Given the description of an element on the screen output the (x, y) to click on. 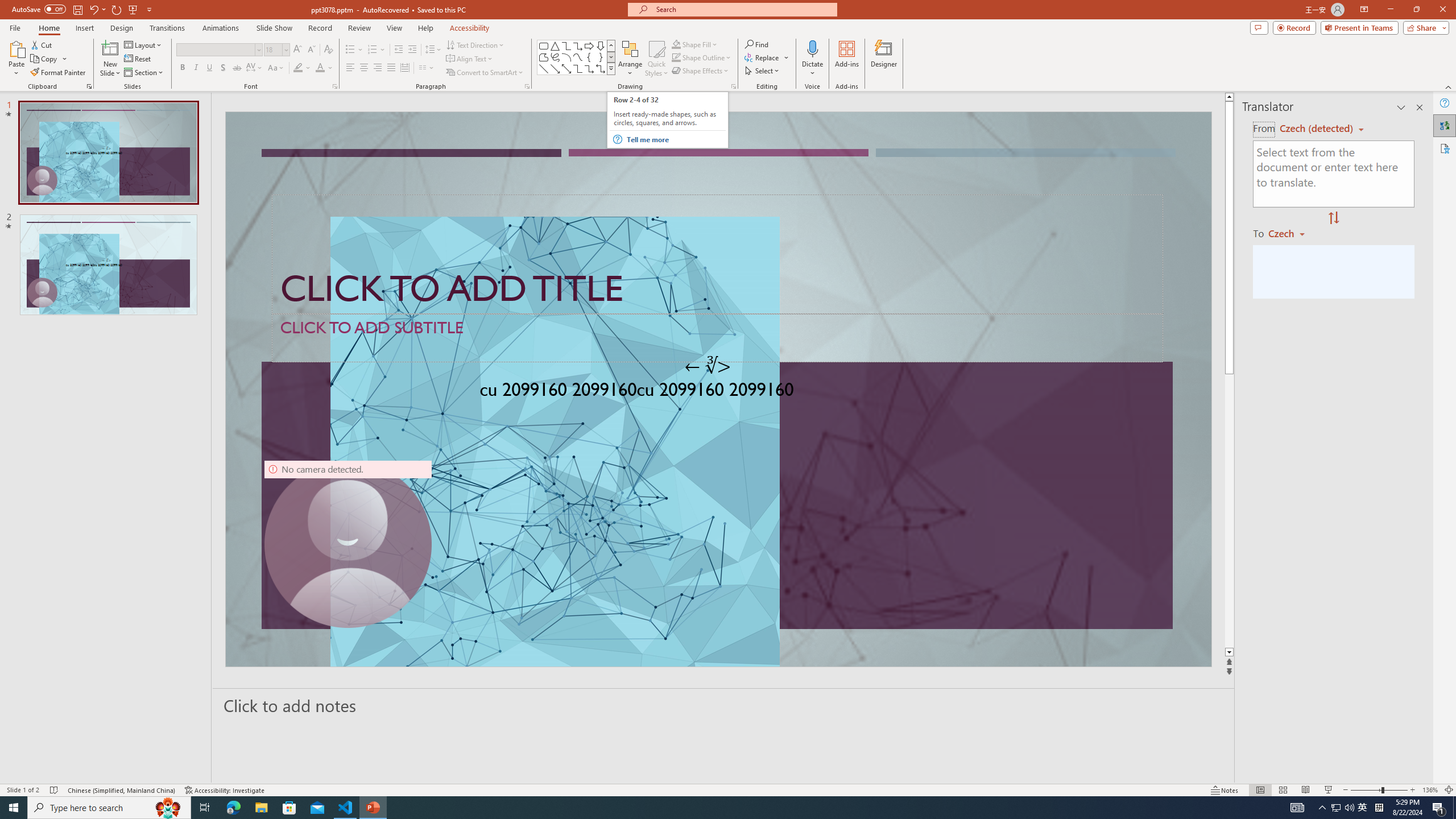
Czech (detected) (1317, 128)
Rectangle: Rounded Corners (543, 45)
Line (543, 68)
Right Brace (600, 57)
Arrange (630, 58)
Format Object... (733, 85)
